Given the description of an element on the screen output the (x, y) to click on. 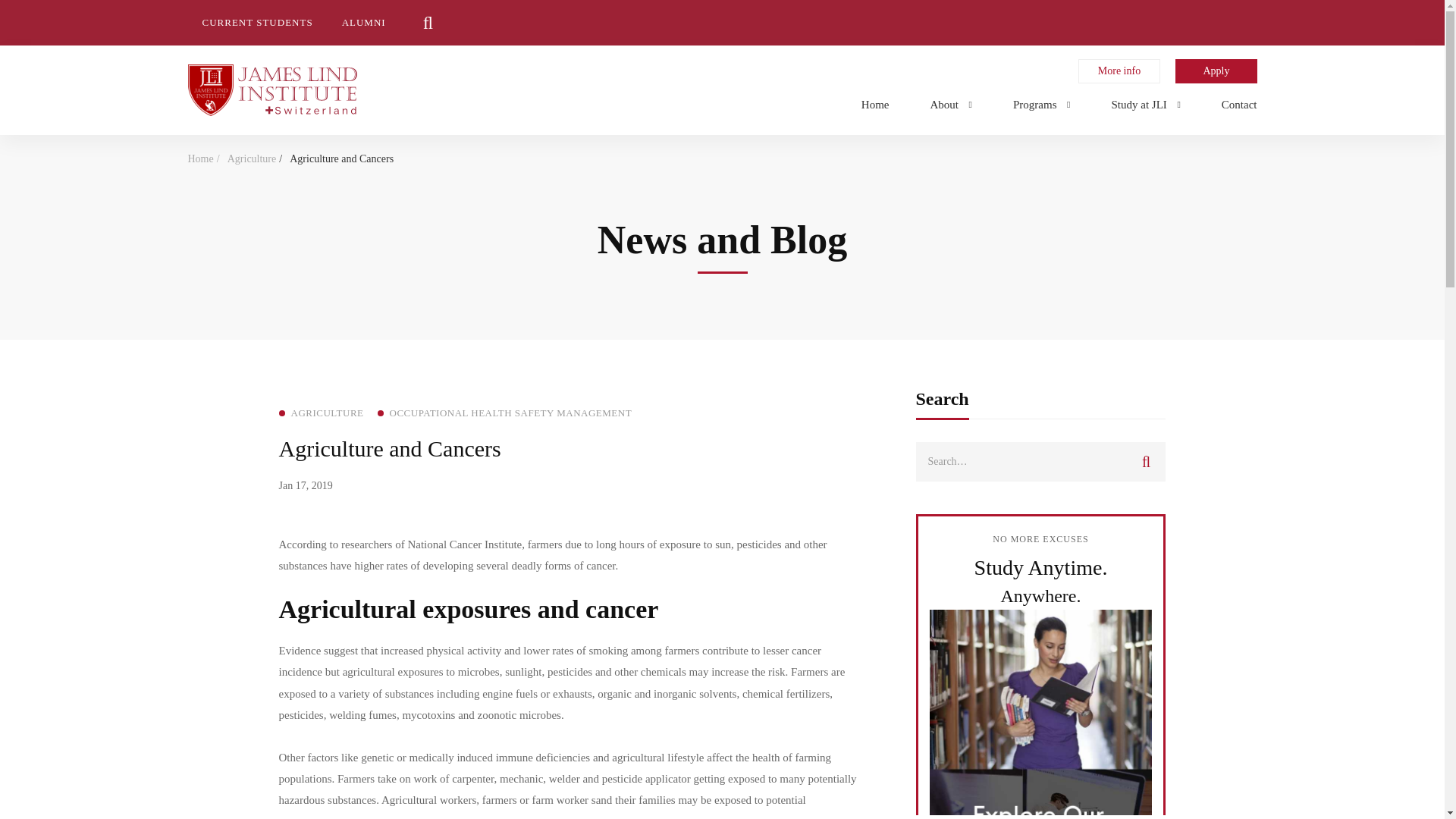
ALUMNI (363, 22)
Home (875, 102)
Apply (1215, 70)
Search for: (1040, 461)
More info (1119, 70)
About (951, 102)
Programs (1041, 102)
CURRENT STUDENTS (257, 22)
